Given the description of an element on the screen output the (x, y) to click on. 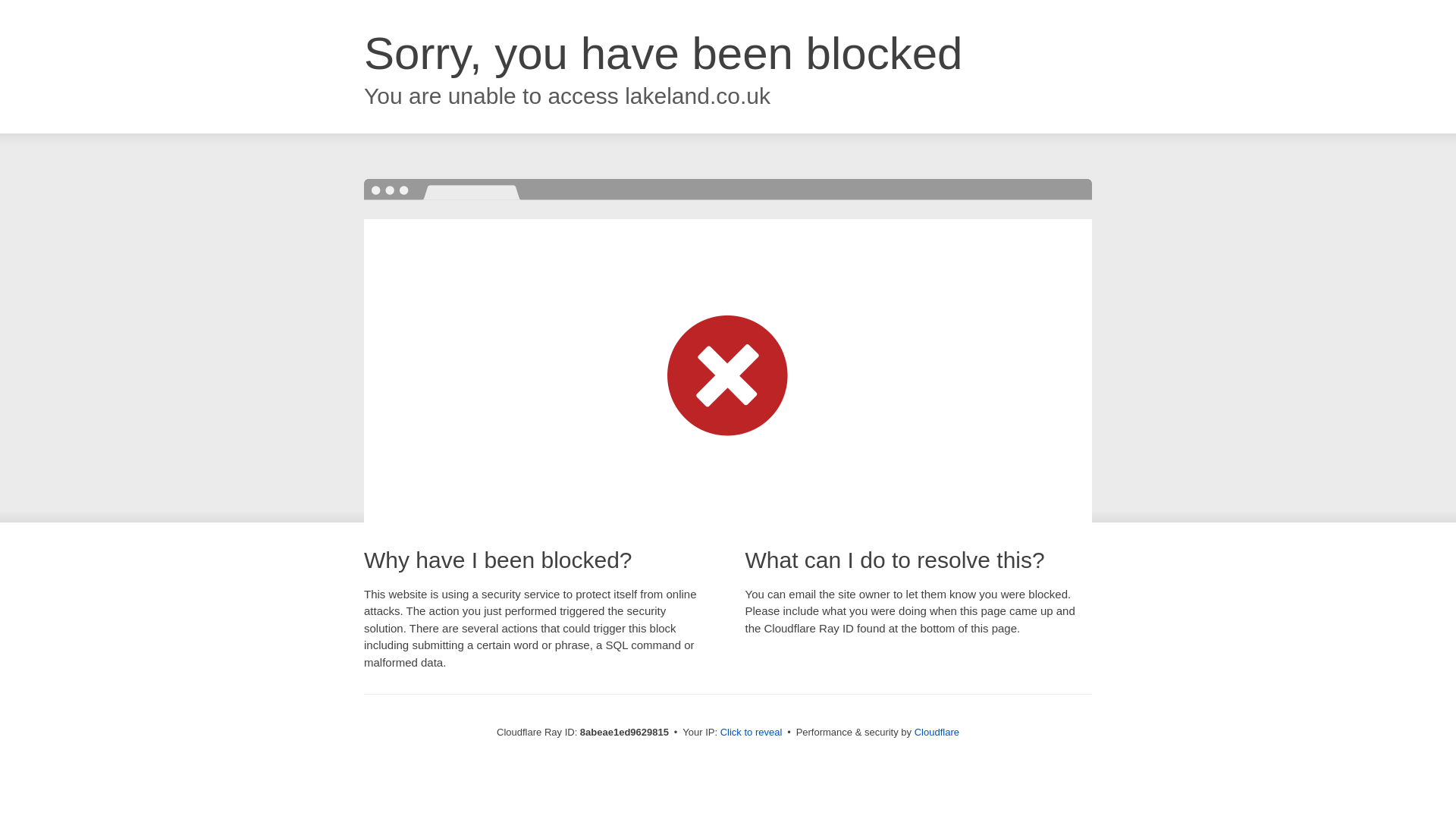
Cloudflare (936, 731)
Click to reveal (751, 732)
